Given the description of an element on the screen output the (x, y) to click on. 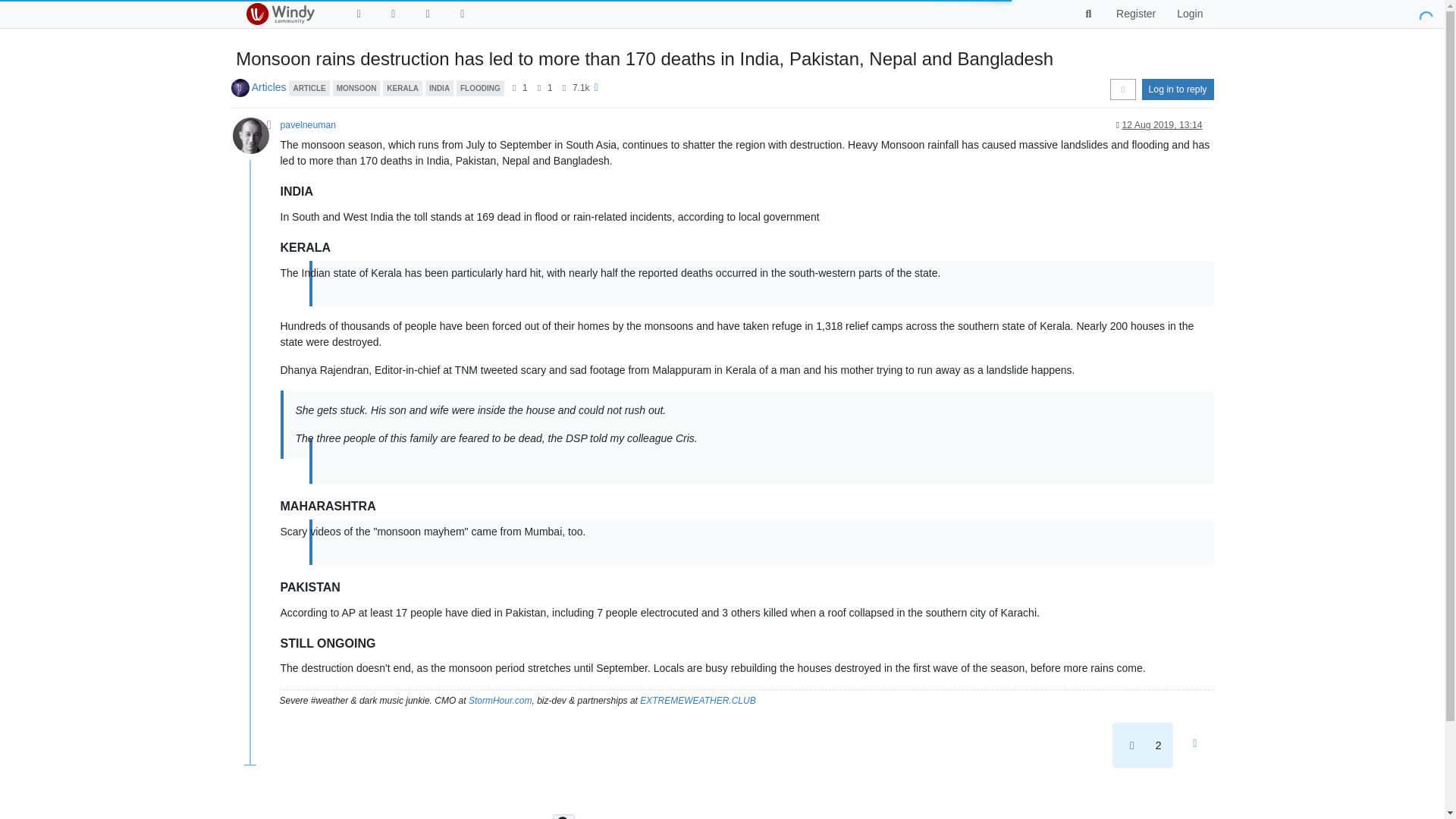
KERALA (402, 87)
Go to windy.com (462, 13)
Articles (268, 87)
Posters (513, 87)
INDIA (438, 87)
Categories (392, 13)
FLOODING (480, 87)
Log in to reply (1177, 88)
Register (1135, 13)
Search (1088, 14)
12 Aug 2019, 13:14 (1161, 124)
ARTICLE (308, 87)
Windy Community (279, 13)
MONSOON (356, 87)
Groups (427, 13)
